Given the description of an element on the screen output the (x, y) to click on. 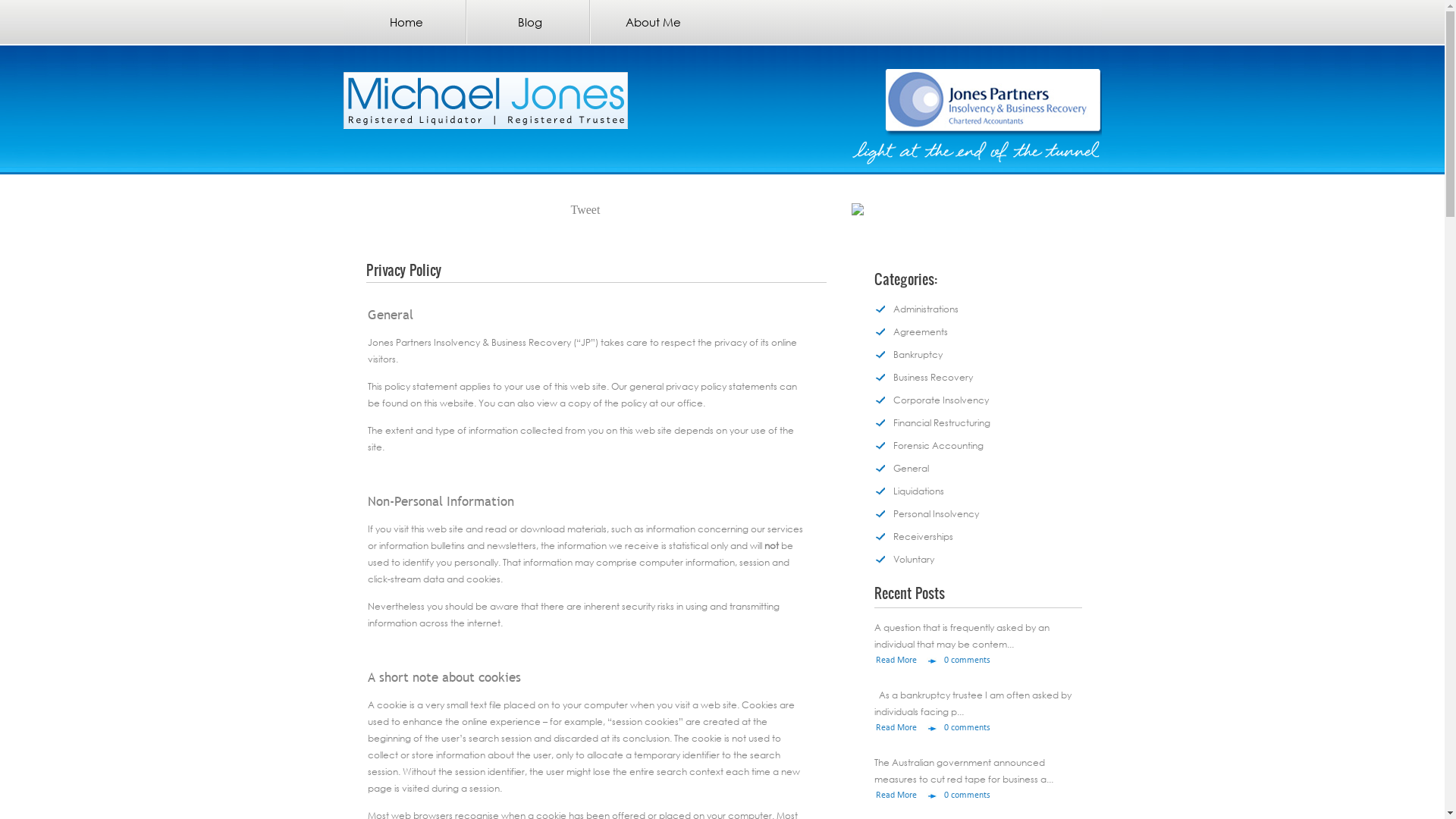
0comments Element type: text (966, 795)
Read More Element type: text (904, 798)
Agreements Element type: text (910, 326)
Business Recovery Element type: text (922, 371)
Read More Element type: text (904, 663)
Bankruptcy Element type: text (907, 348)
Corporate Insolvency Element type: text (930, 394)
Home Element type: text (403, 21)
0comments Element type: text (966, 660)
Personal Insolvency Element type: text (925, 508)
About Me Element type: text (650, 21)
Privacy Policy Element type: text (402, 273)
Receiverships Element type: text (912, 530)
Administrations Element type: text (915, 303)
Voluntary Element type: text (903, 553)
0comments Element type: text (966, 727)
General Element type: text (900, 462)
Forensic Accounting Element type: text (927, 439)
Blog Element type: text (528, 21)
Tweet Element type: text (584, 208)
Liquidations Element type: text (908, 485)
Financial Restructuring Element type: text (931, 417)
Read More Element type: text (904, 731)
